Given the description of an element on the screen output the (x, y) to click on. 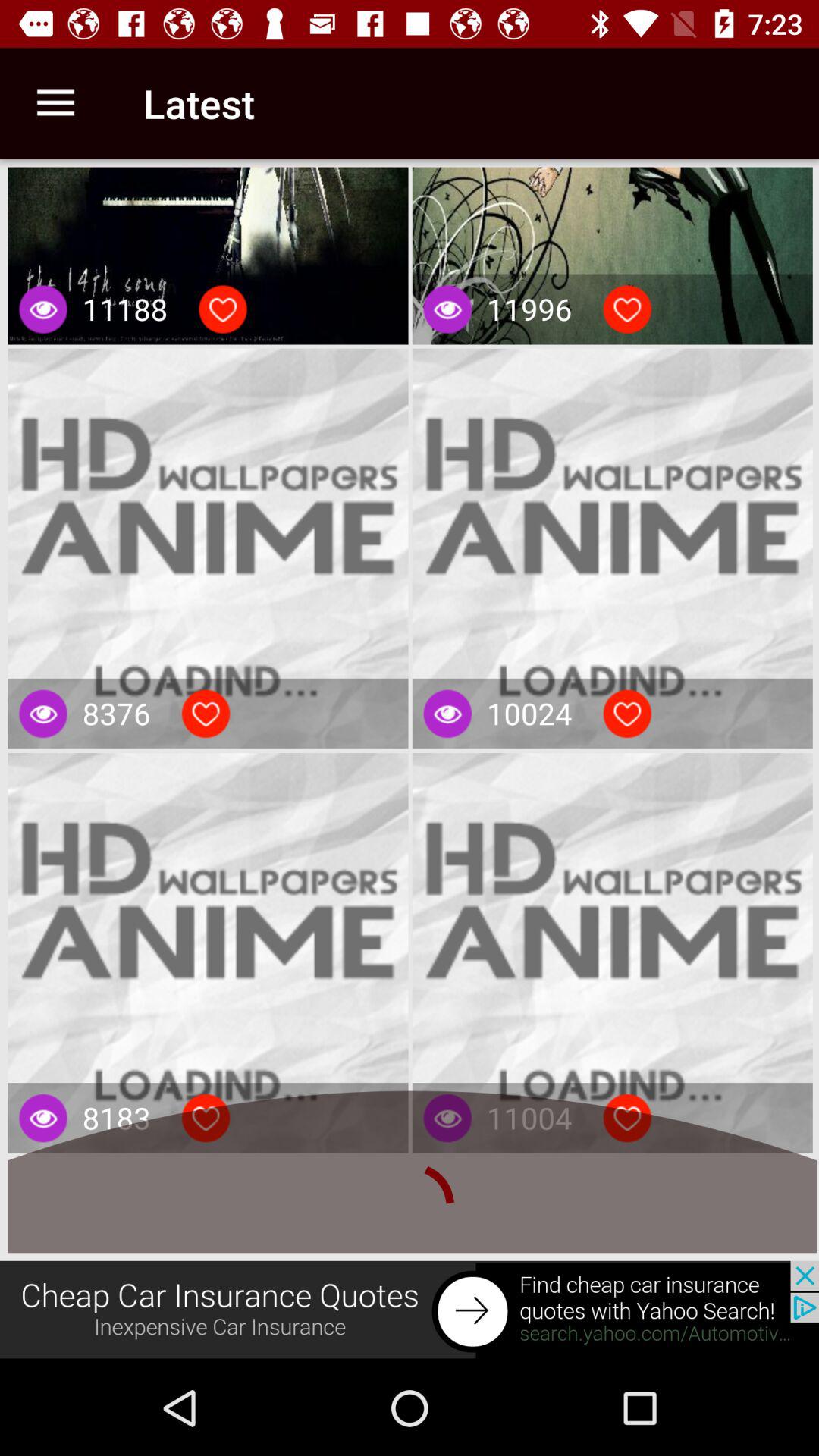
like buttons (222, 309)
